Given the description of an element on the screen output the (x, y) to click on. 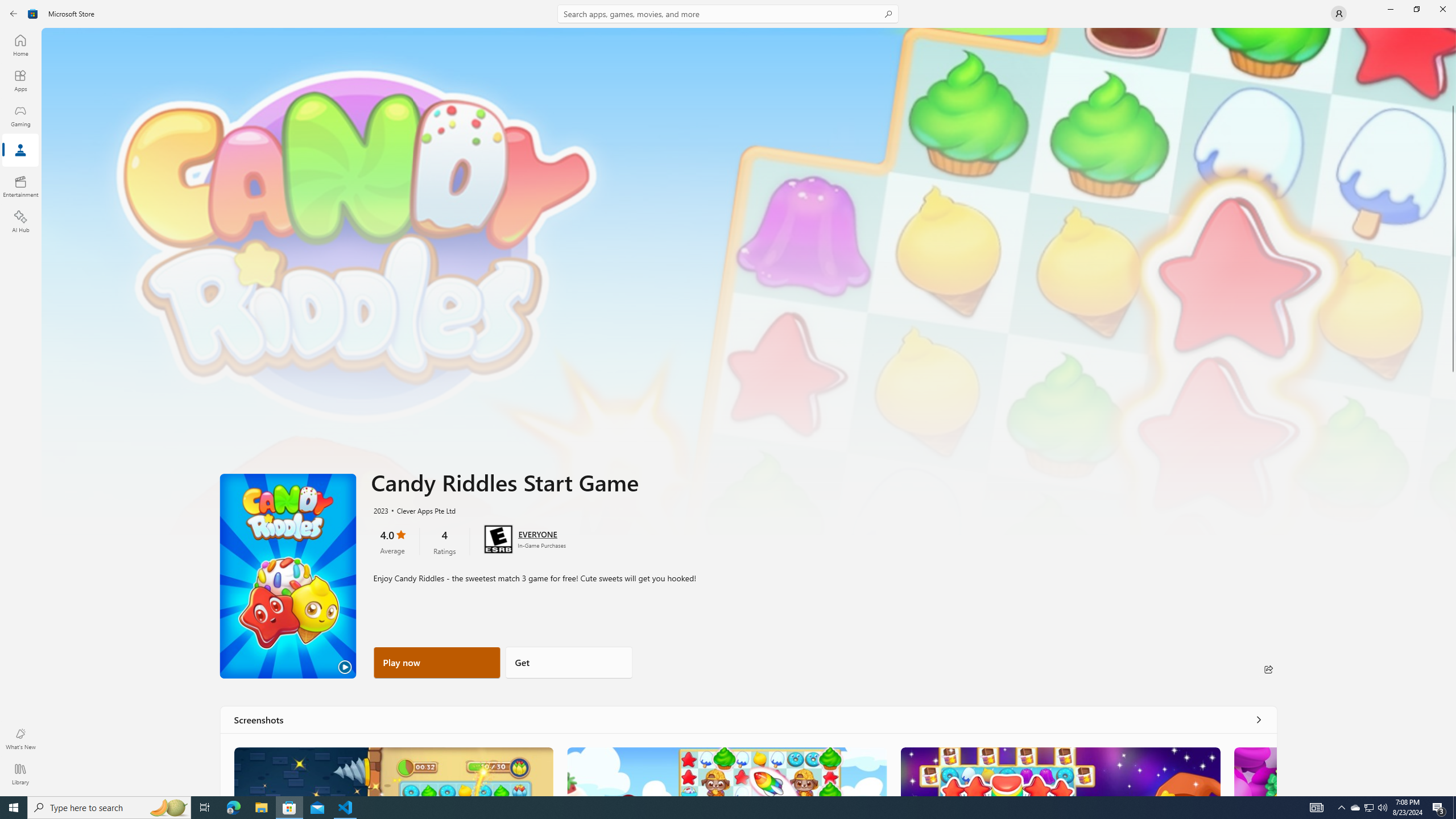
Vertical Small Increase (1452, 792)
Vertical Large Decrease (1452, 69)
Age rating: EVERYONE. Click for more information. (537, 533)
